Given the description of an element on the screen output the (x, y) to click on. 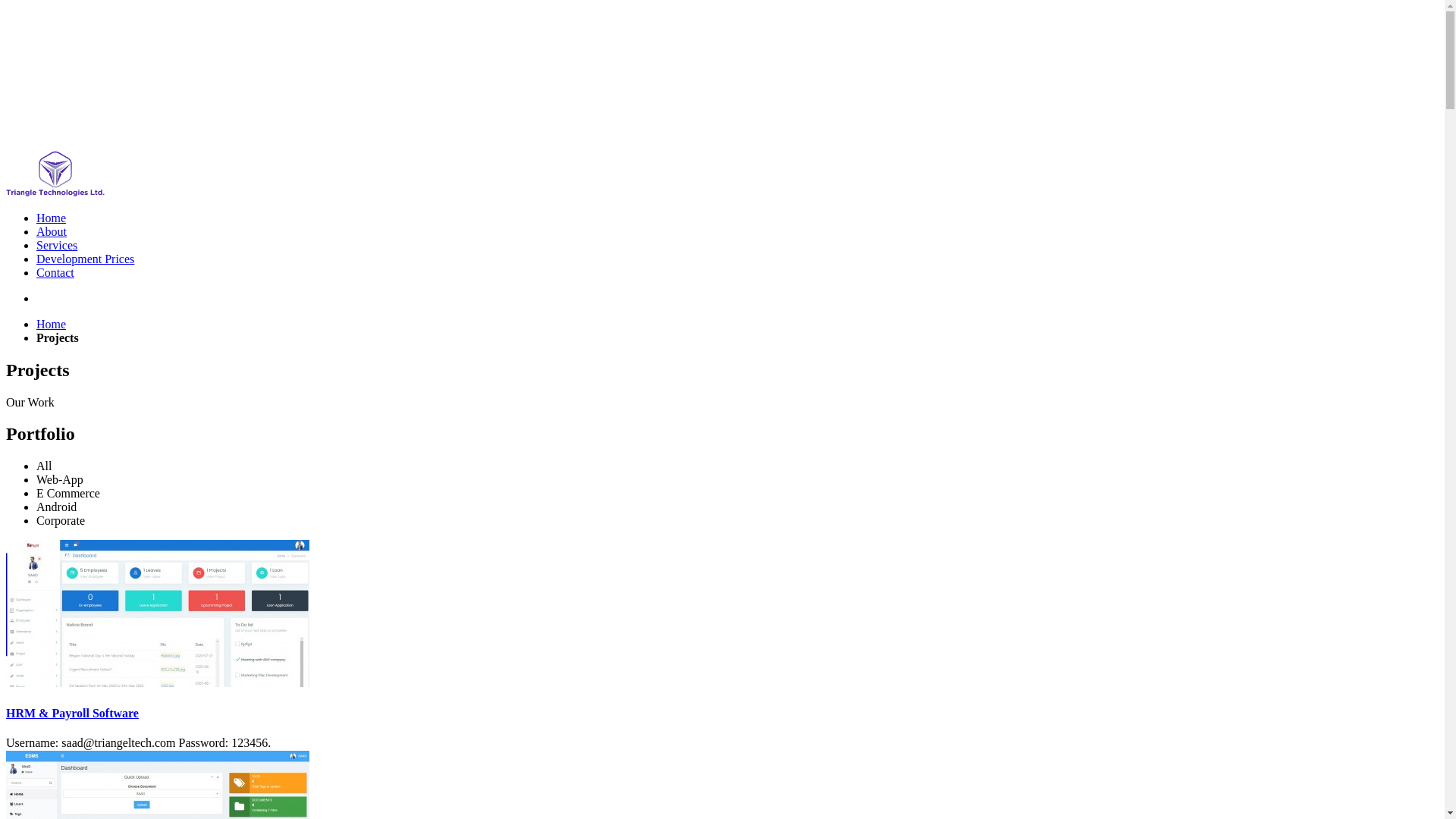
Contact Element type: text (55, 272)
Development Prices Element type: text (85, 258)
Home Element type: text (50, 217)
HRM & Payroll Software Element type: text (72, 712)
About Element type: text (51, 231)
Services Element type: text (56, 244)
Home Element type: text (50, 323)
